Given the description of an element on the screen output the (x, y) to click on. 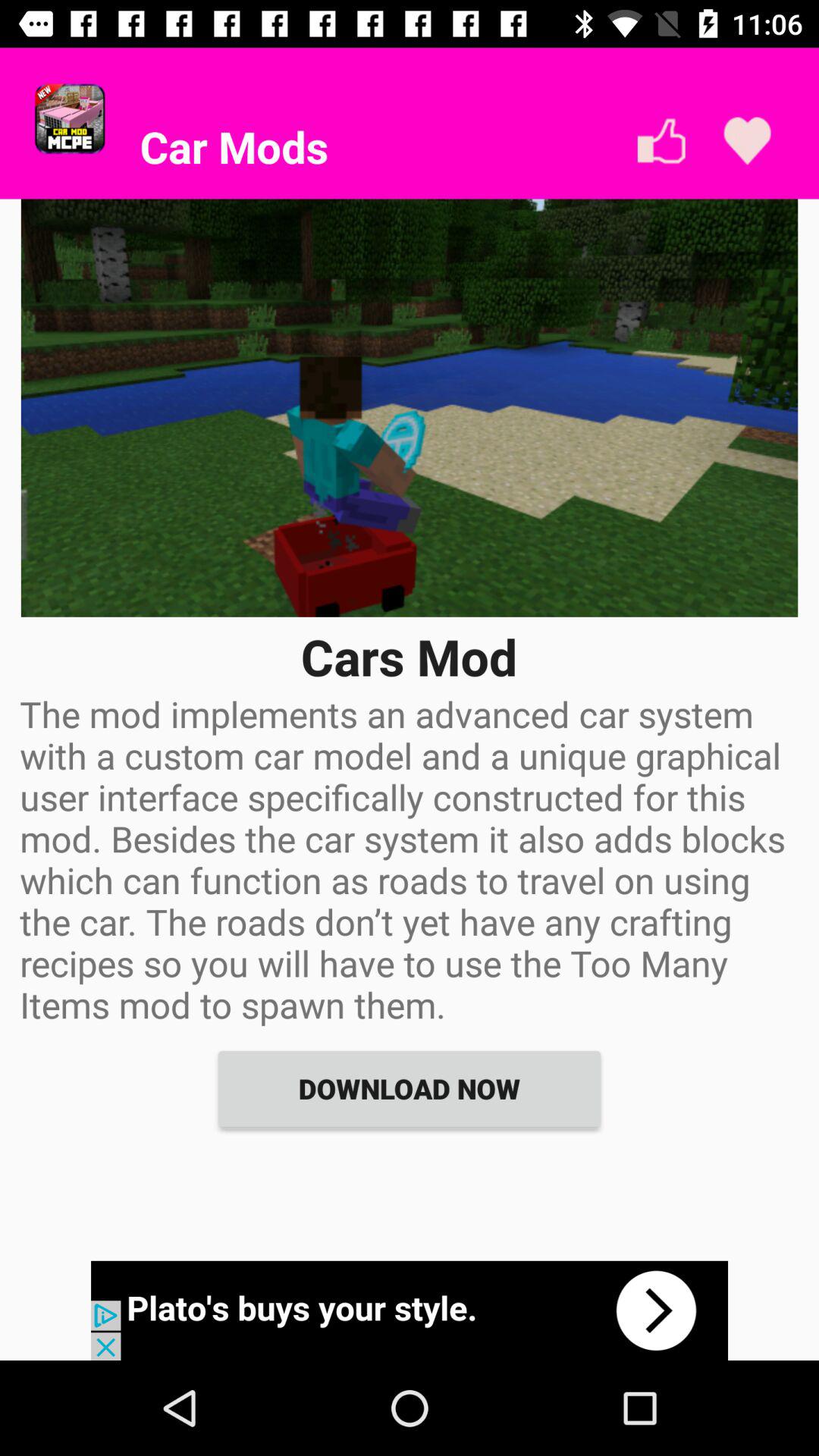
advertisement (409, 1310)
